Given the description of an element on the screen output the (x, y) to click on. 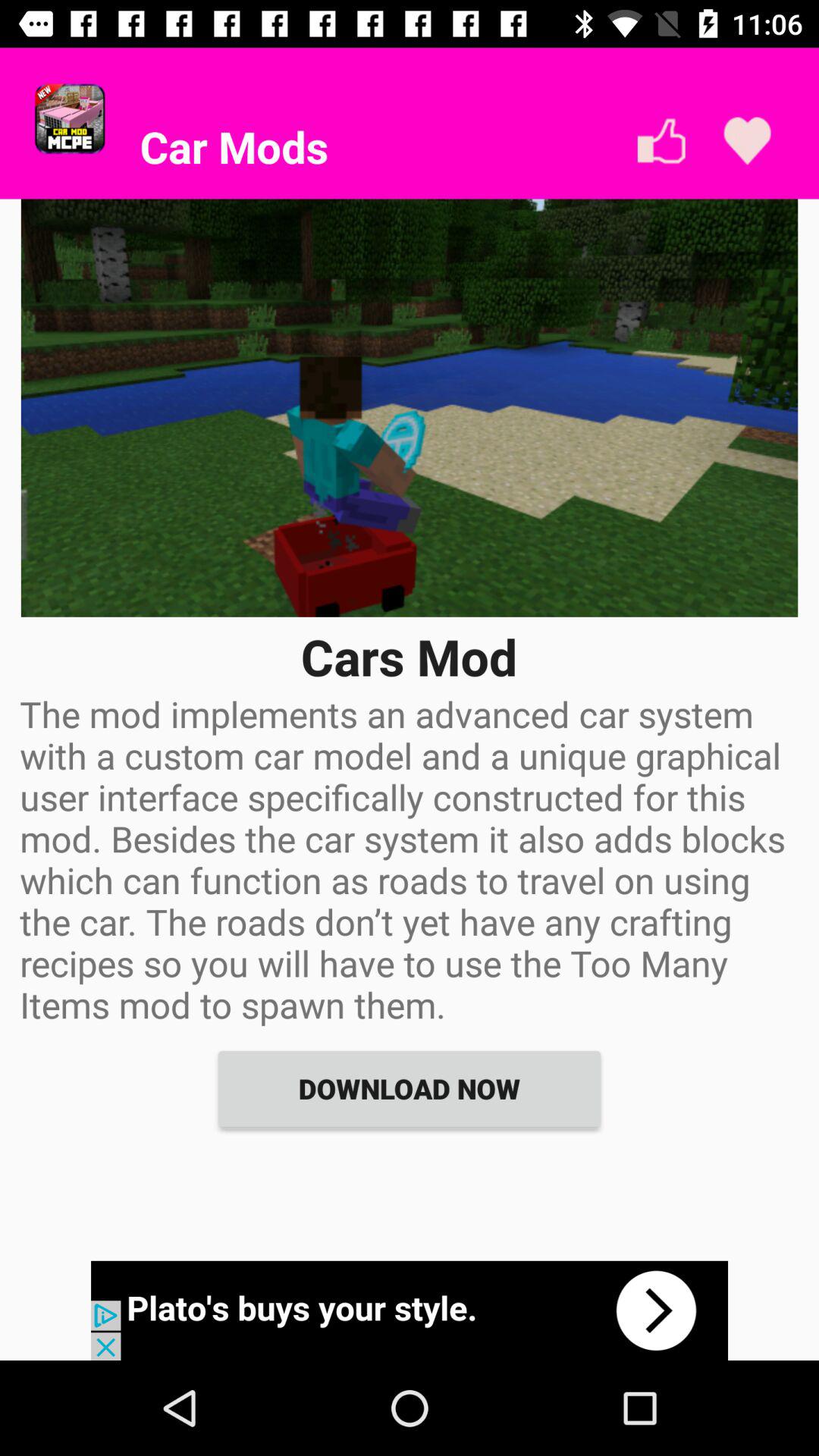
advertisement (409, 1310)
